Given the description of an element on the screen output the (x, y) to click on. 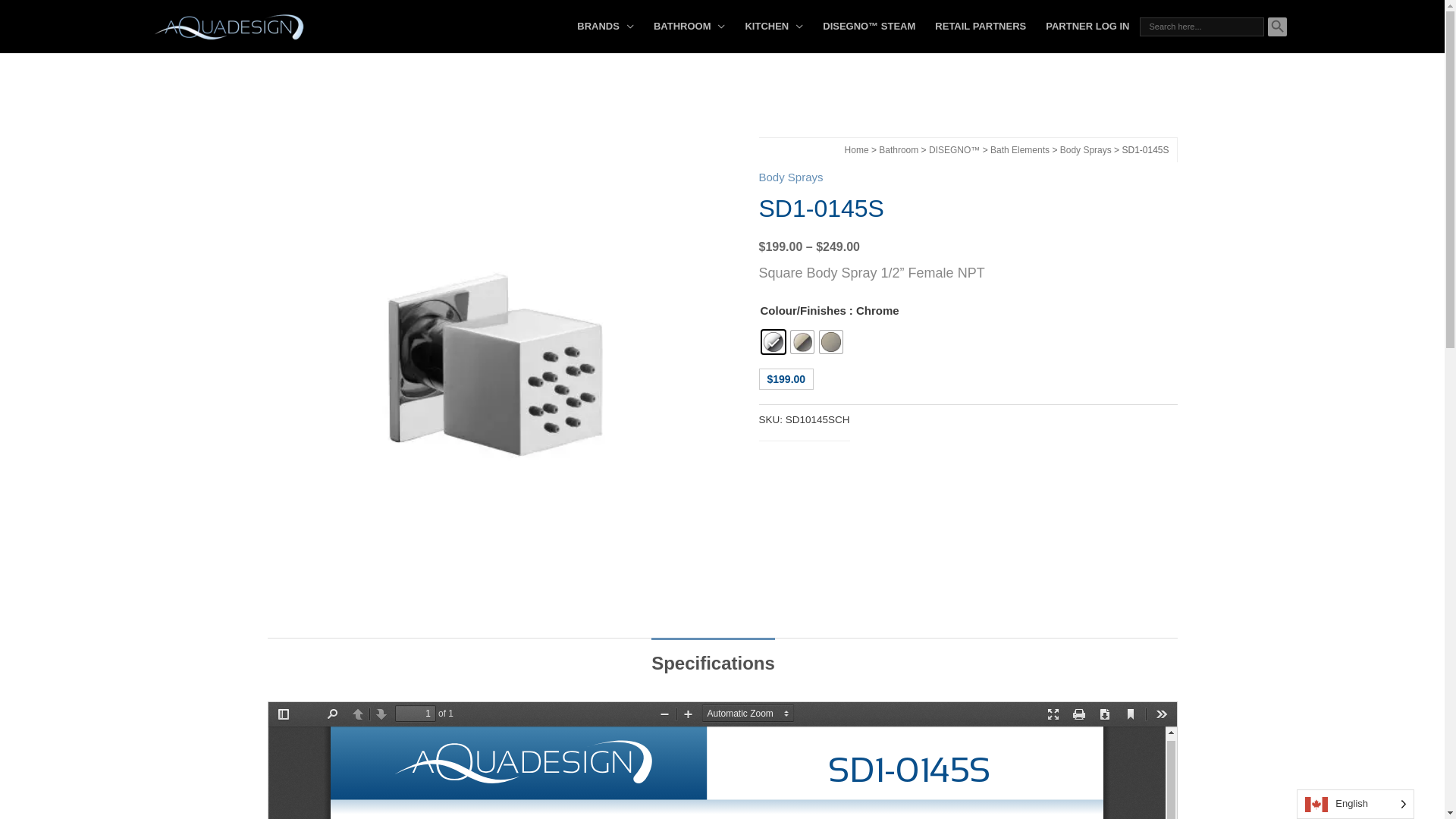
RETAIL PARTNERS Element type: text (980, 26)
Chrome Element type: hover (772, 341)
Body Sprays Element type: text (790, 176)
sd10145sch Element type: hover (493, 364)
KITCHEN Element type: text (773, 26)
PARTNER LOG IN Element type: text (1087, 26)
Bathroom Element type: text (898, 149)
Home Element type: text (856, 149)
Search Button Element type: text (1276, 26)
BRANDS Element type: text (605, 26)
Body Sprays Element type: text (1085, 149)
Bath Elements Element type: text (1019, 149)
BATHROOM Element type: text (689, 26)
Polished Nickel Element type: hover (801, 341)
Brushed Nickel Element type: hover (830, 341)
Specifications Element type: text (713, 663)
